Given the description of an element on the screen output the (x, y) to click on. 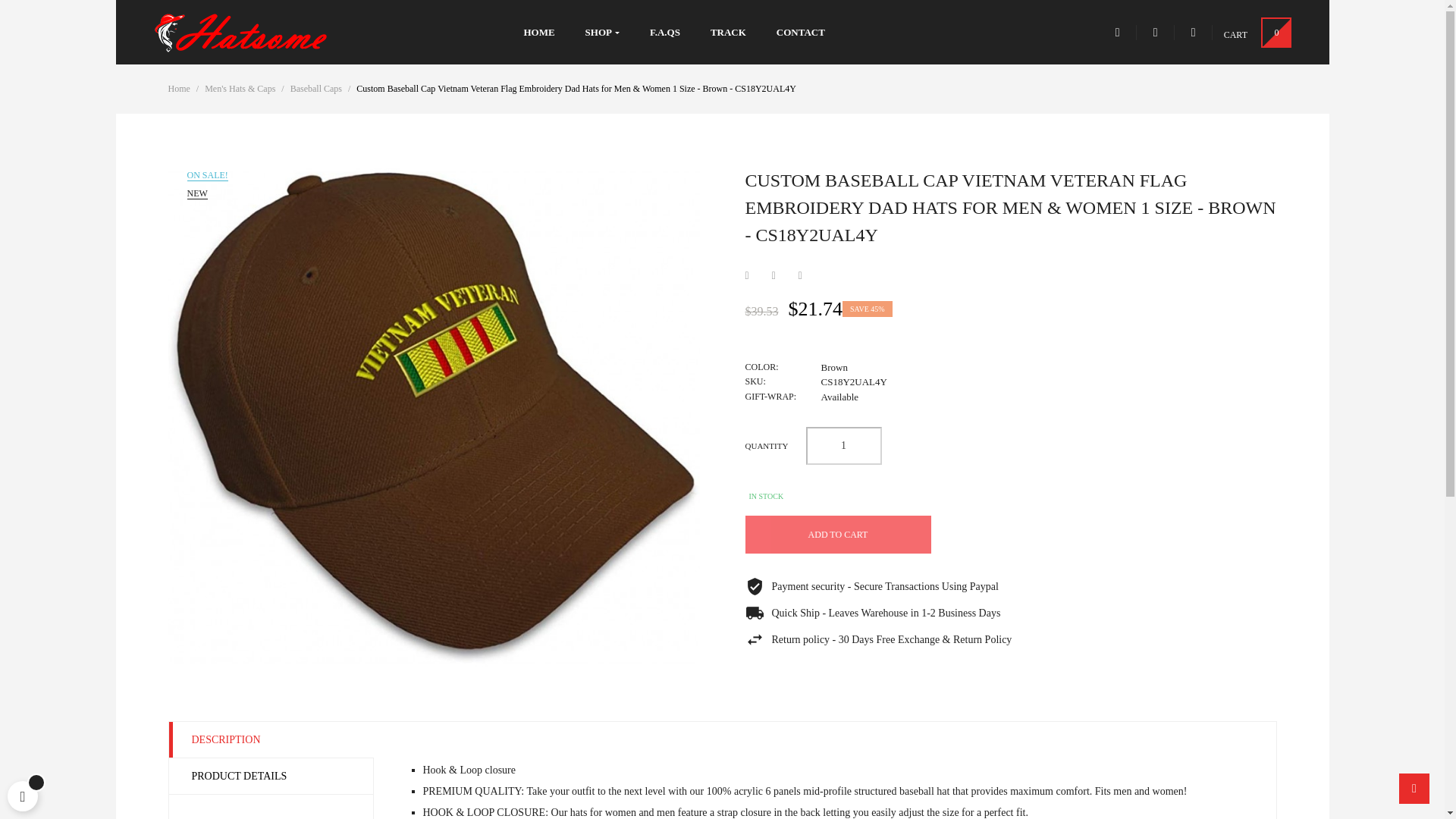
1 (842, 445)
CONTACT (800, 31)
F.A.QS (664, 31)
SHOP (602, 31)
TRACK (728, 31)
HOME (538, 31)
